Given the description of an element on the screen output the (x, y) to click on. 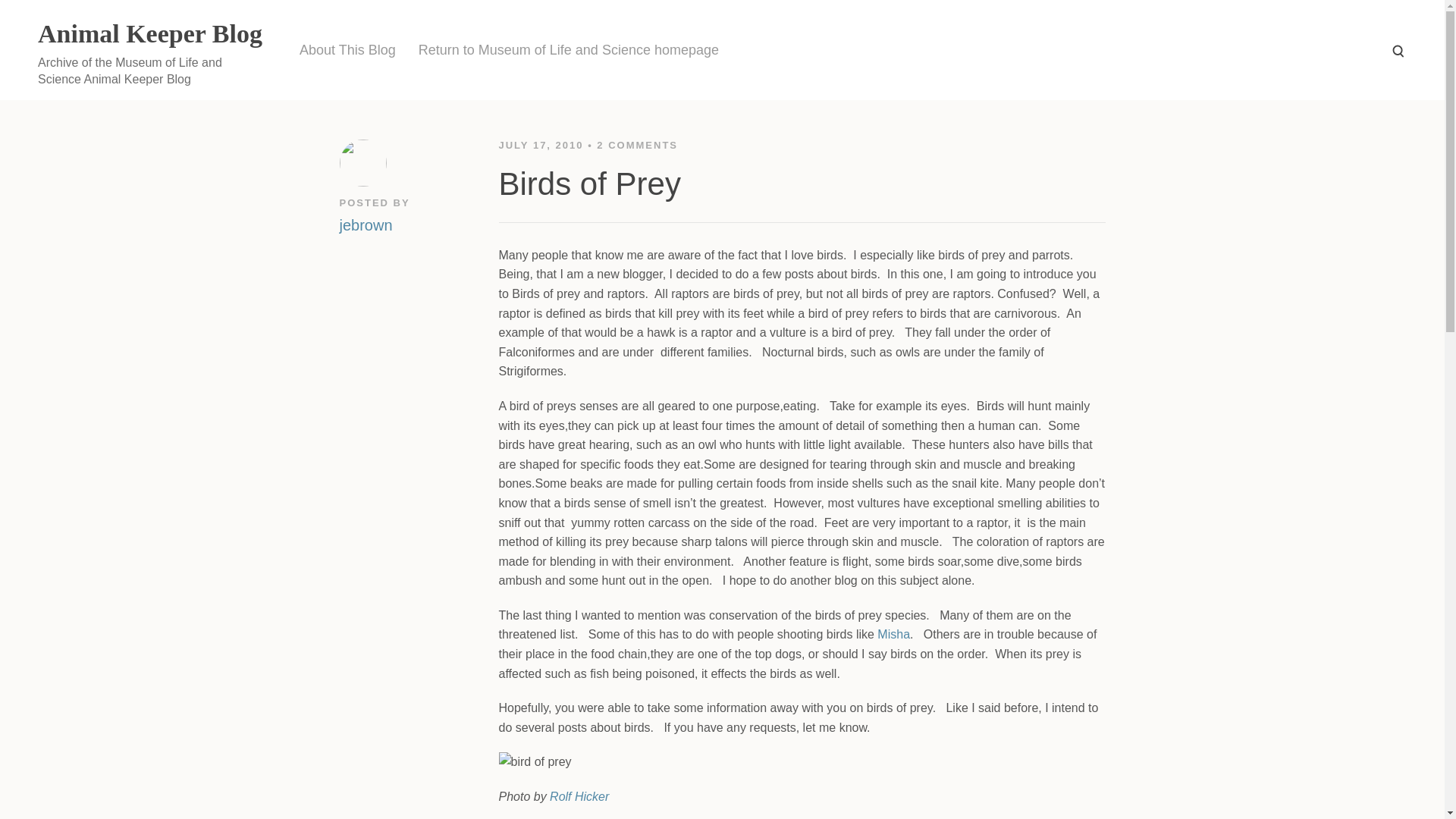
Animal Keeper Blog (149, 33)
Rolf Hicker (579, 796)
About This Blog (347, 49)
Search (1396, 50)
Mishas profile (893, 634)
Search (1396, 50)
2 COMMENTS (637, 144)
Search (1396, 50)
Return to Museum of Life and Science homepage (569, 49)
jebrown (366, 223)
JULY 17, 2010 (543, 144)
Misha (893, 634)
